Given the description of an element on the screen output the (x, y) to click on. 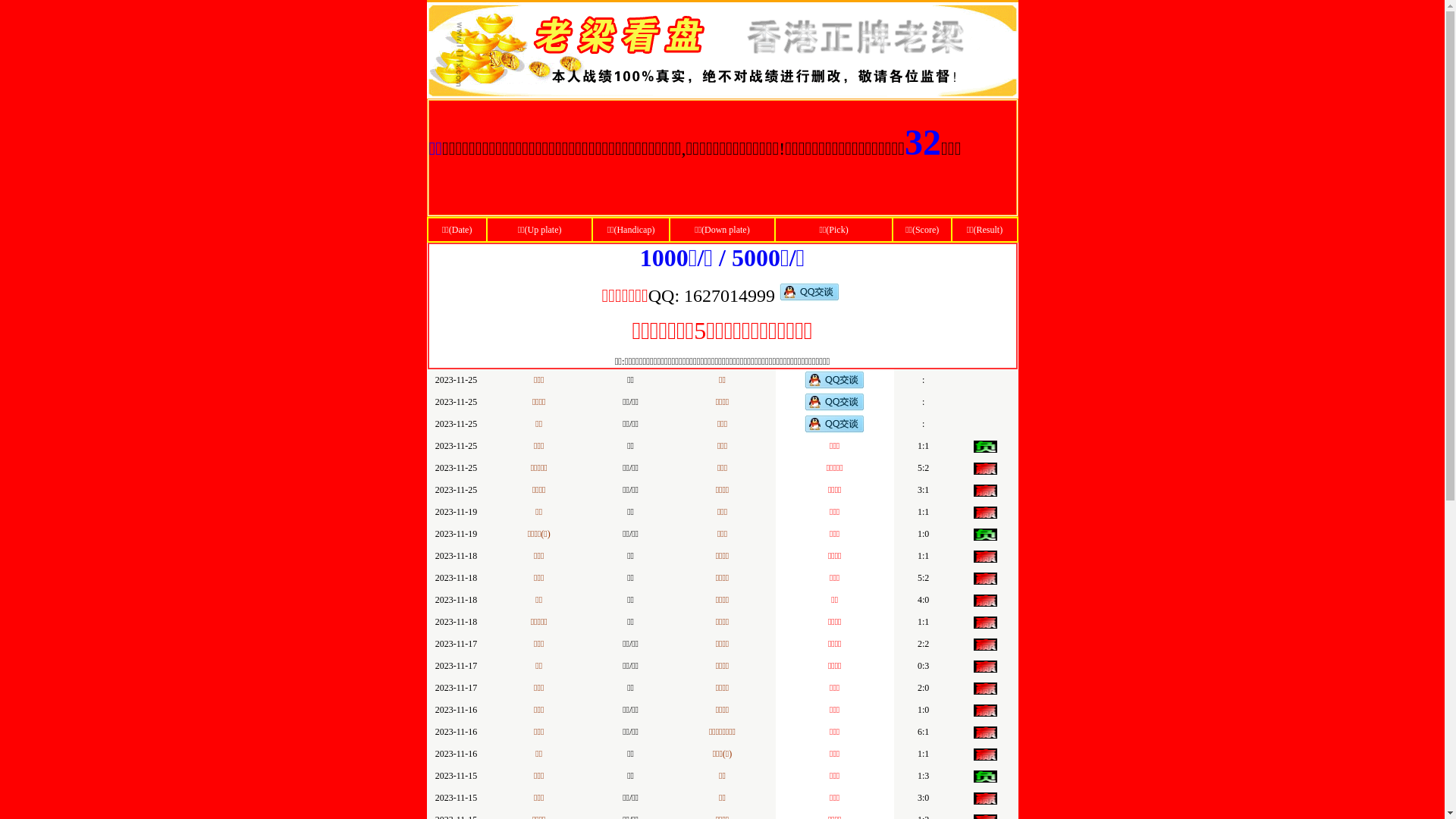
QQ Element type: text (661, 296)
